Given the description of an element on the screen output the (x, y) to click on. 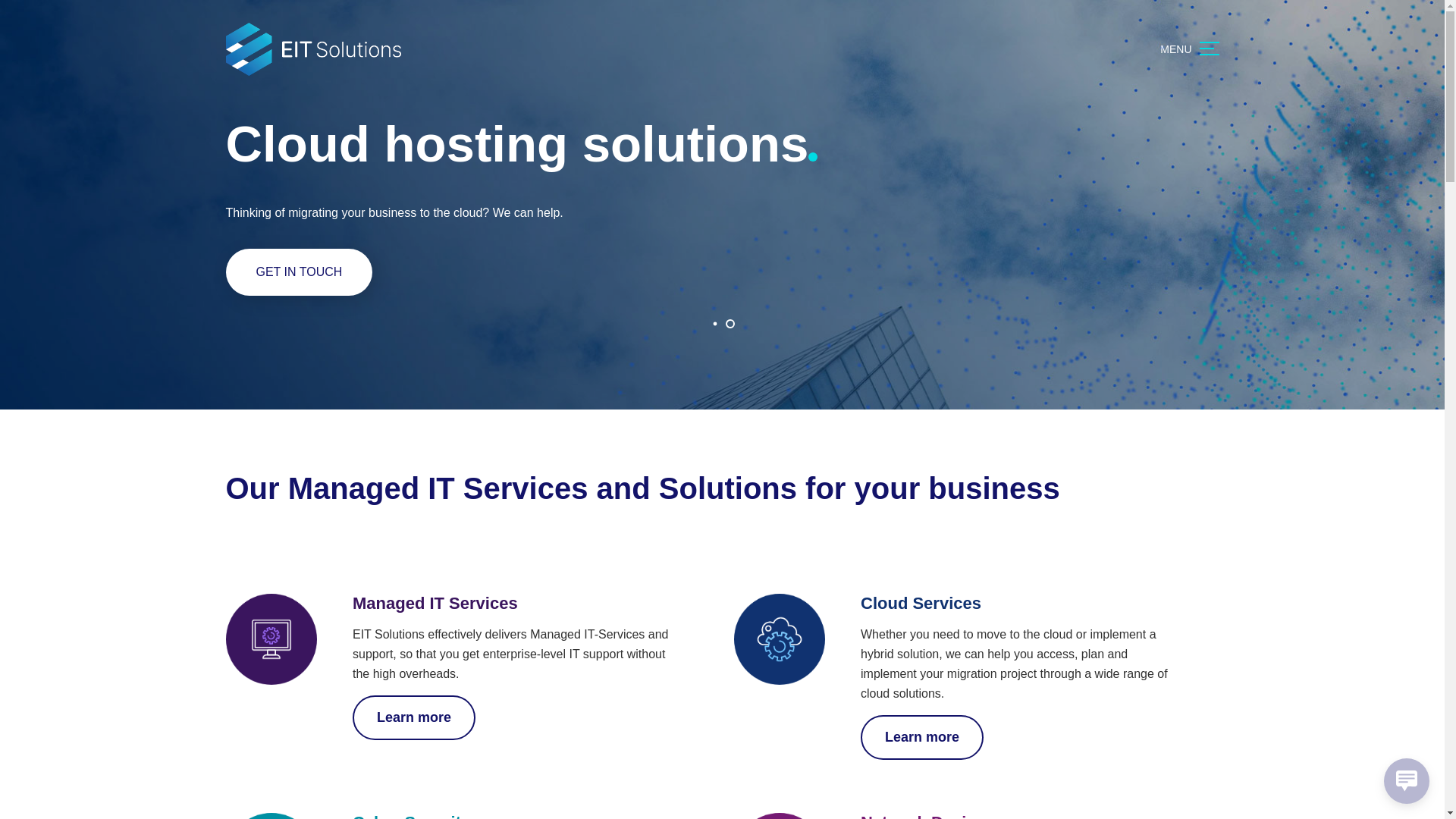
Learn more Element type: text (921, 737)
GET IN TOUCH Element type: text (299, 271)
Learn more Element type: text (413, 717)
